Given the description of an element on the screen output the (x, y) to click on. 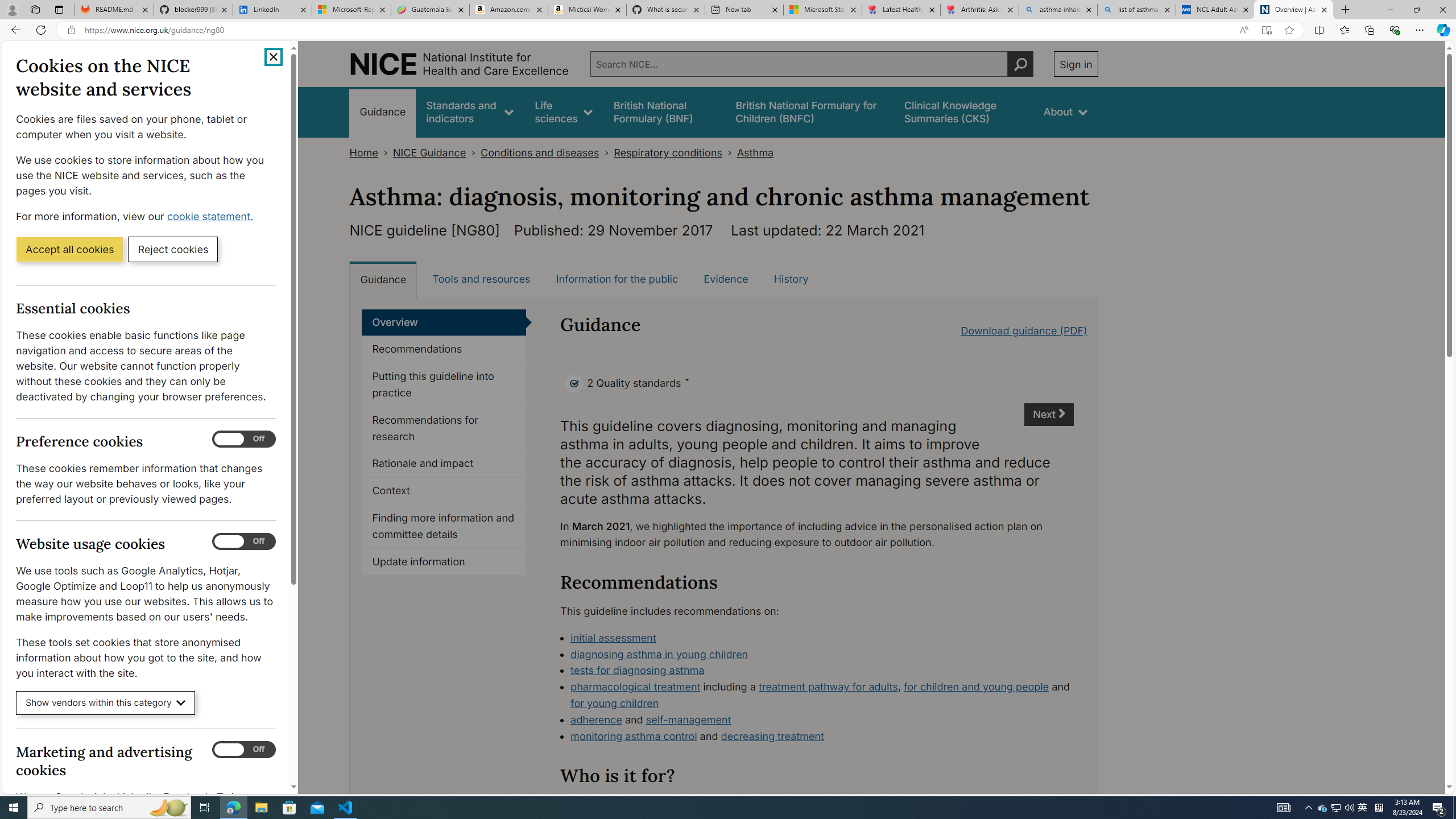
Next chapter (1049, 414)
for children and young people (976, 686)
Website usage cookies (243, 540)
NICE Guidance (429, 152)
Putting this guideline into practice (444, 385)
Evidence (725, 279)
Respiratory conditions> (674, 152)
initial assessment (822, 638)
